Given the description of an element on the screen output the (x, y) to click on. 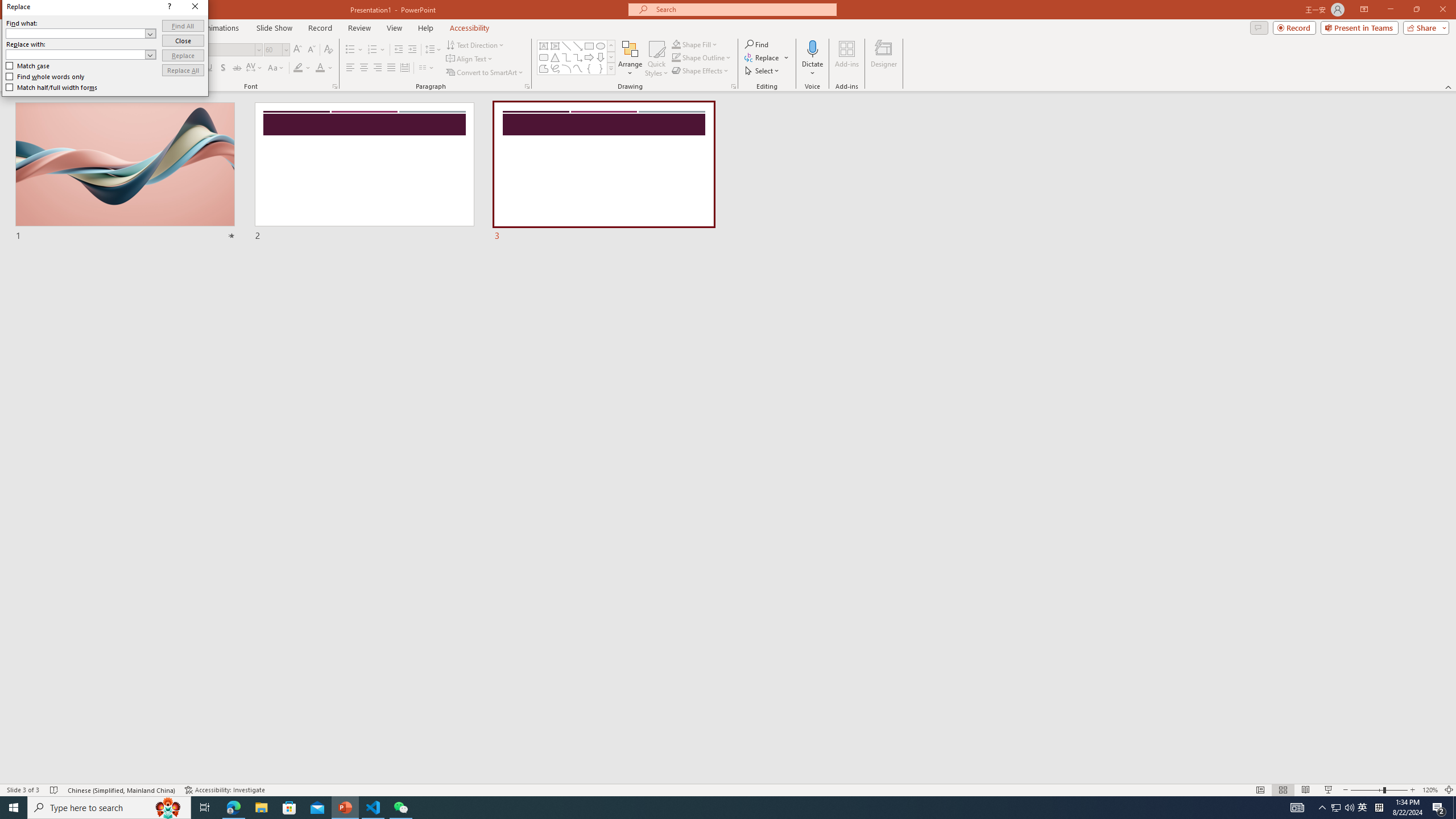
Show desktop (1454, 807)
Justify (390, 67)
Left Brace (589, 68)
Find whole words only (45, 76)
Running applications (707, 807)
Format Object... (733, 85)
Shapes (611, 68)
Notification Chevron (1322, 807)
